Given the description of an element on the screen output the (x, y) to click on. 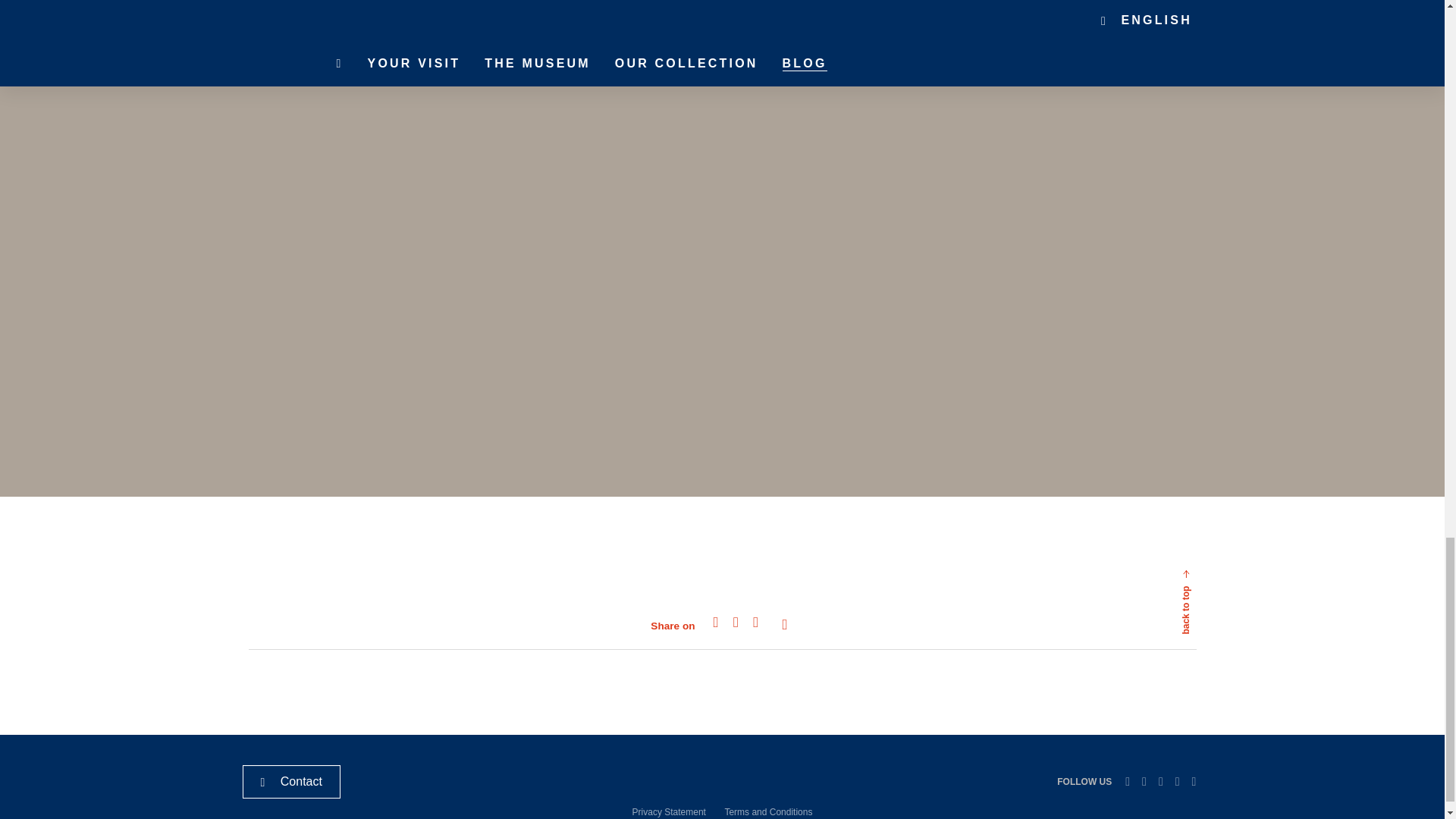
Instagram (1177, 781)
back to top (1222, 552)
LinkedIn (1127, 781)
Terms and Conditions (767, 811)
Privacy Statement (668, 811)
Contact (291, 781)
Twitter (1144, 781)
back to top (1150, 624)
back to top (1222, 552)
YouTube (1194, 781)
